Given the description of an element on the screen output the (x, y) to click on. 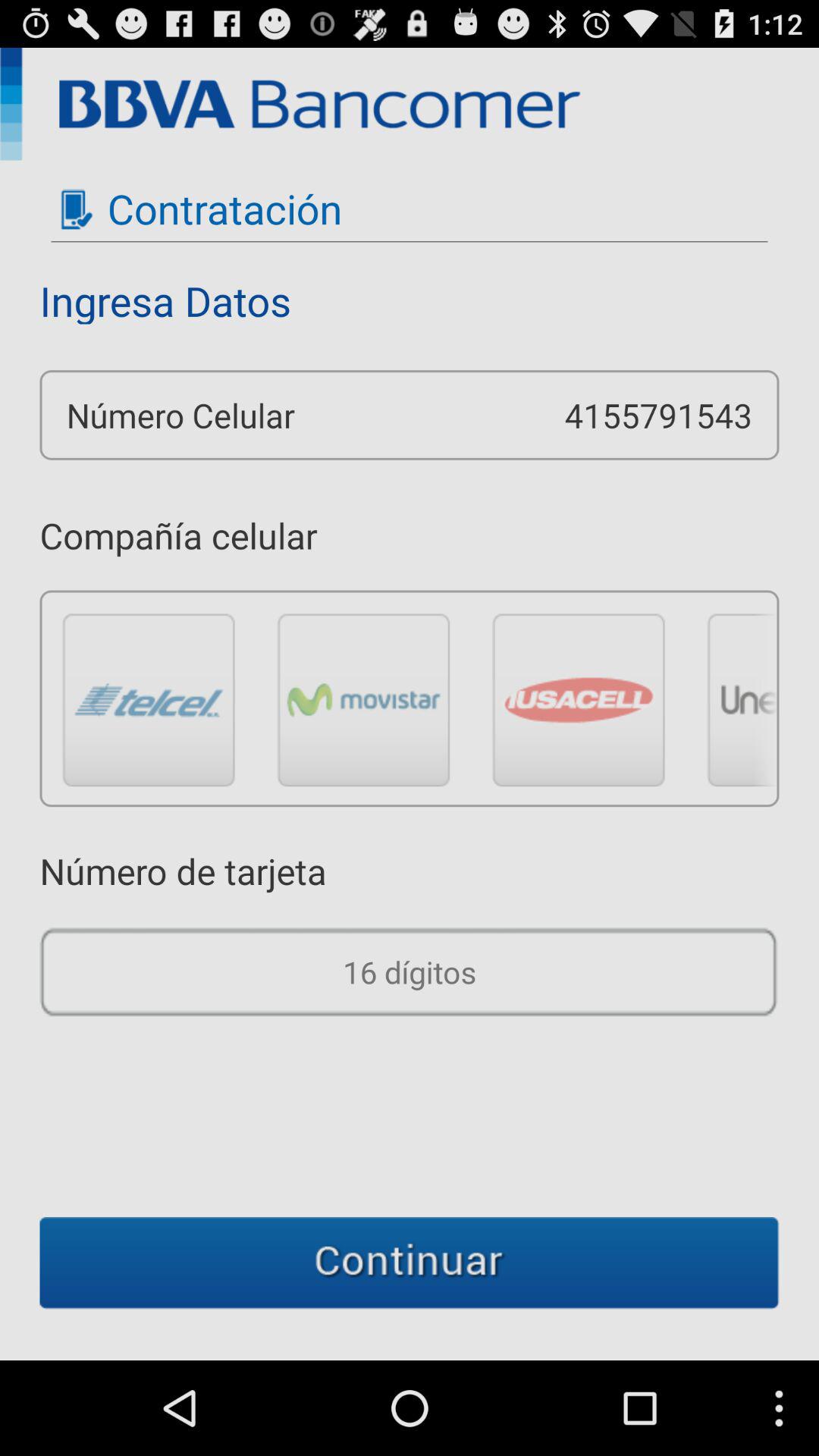
for continuar option (409, 1263)
